Given the description of an element on the screen output the (x, y) to click on. 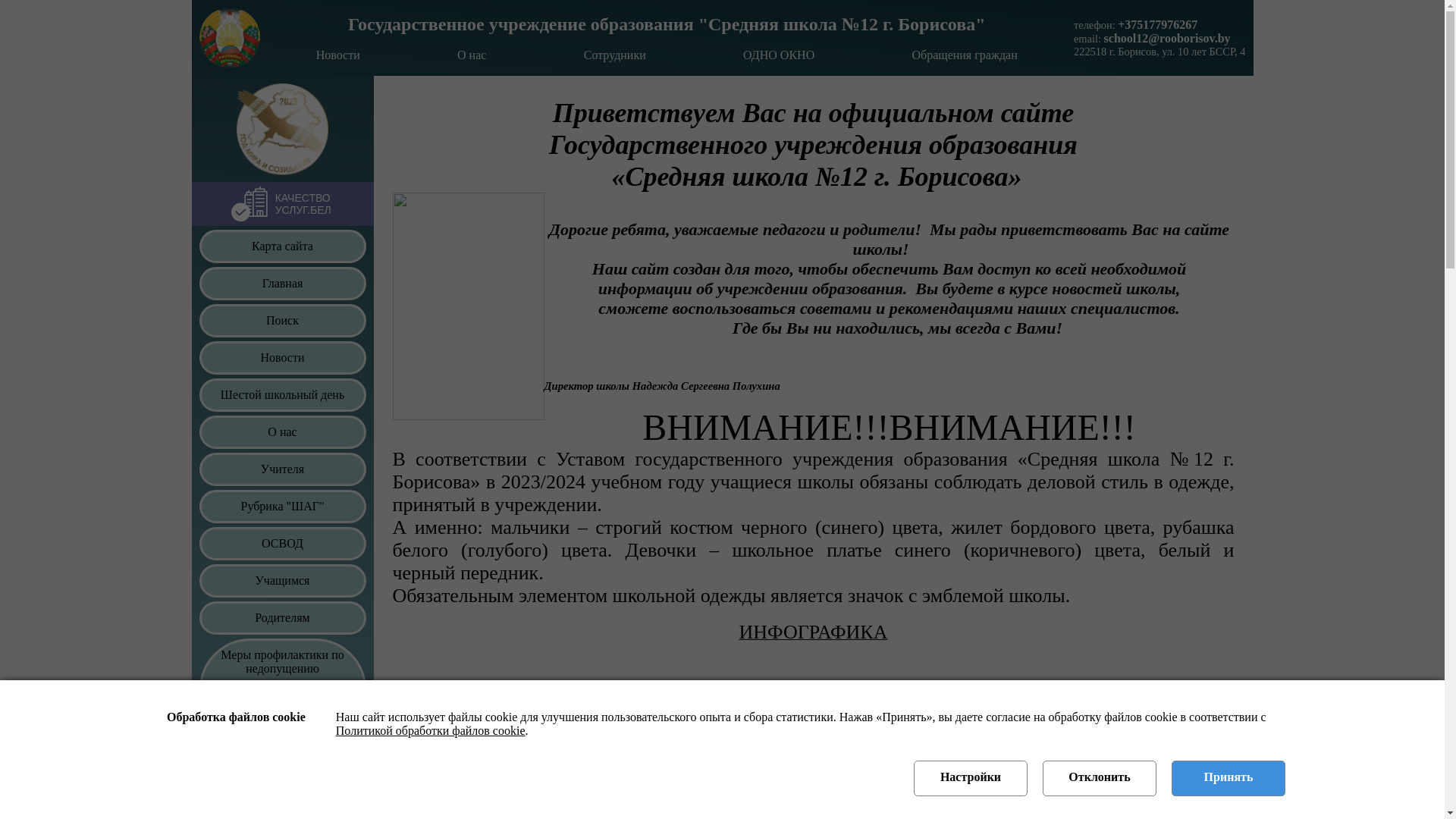
+375177976267 Element type: text (1157, 24)
school12@rooborisov.by Element type: text (1167, 37)
